Given the description of an element on the screen output the (x, y) to click on. 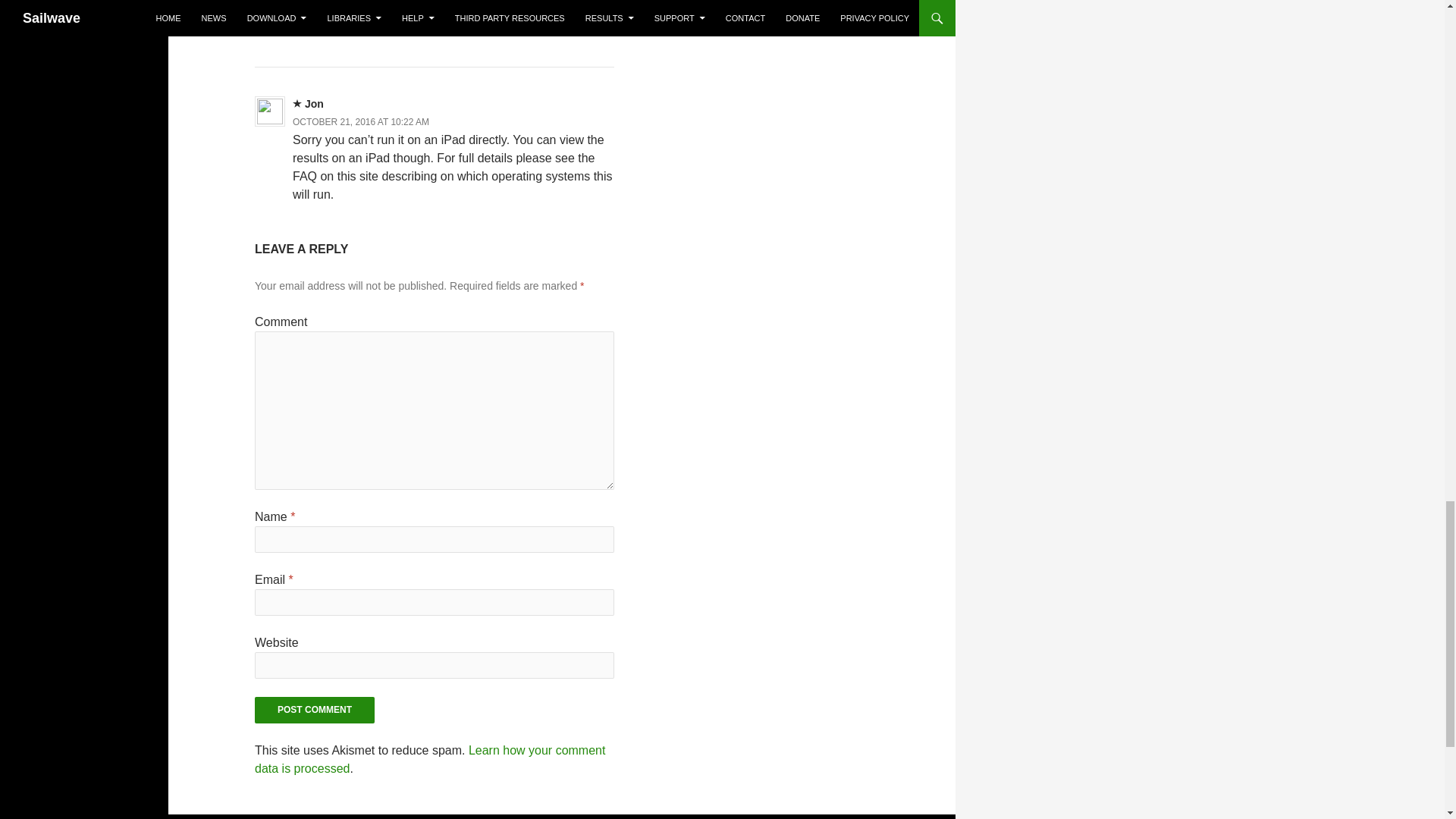
Post Comment (314, 709)
